Given the description of an element on the screen output the (x, y) to click on. 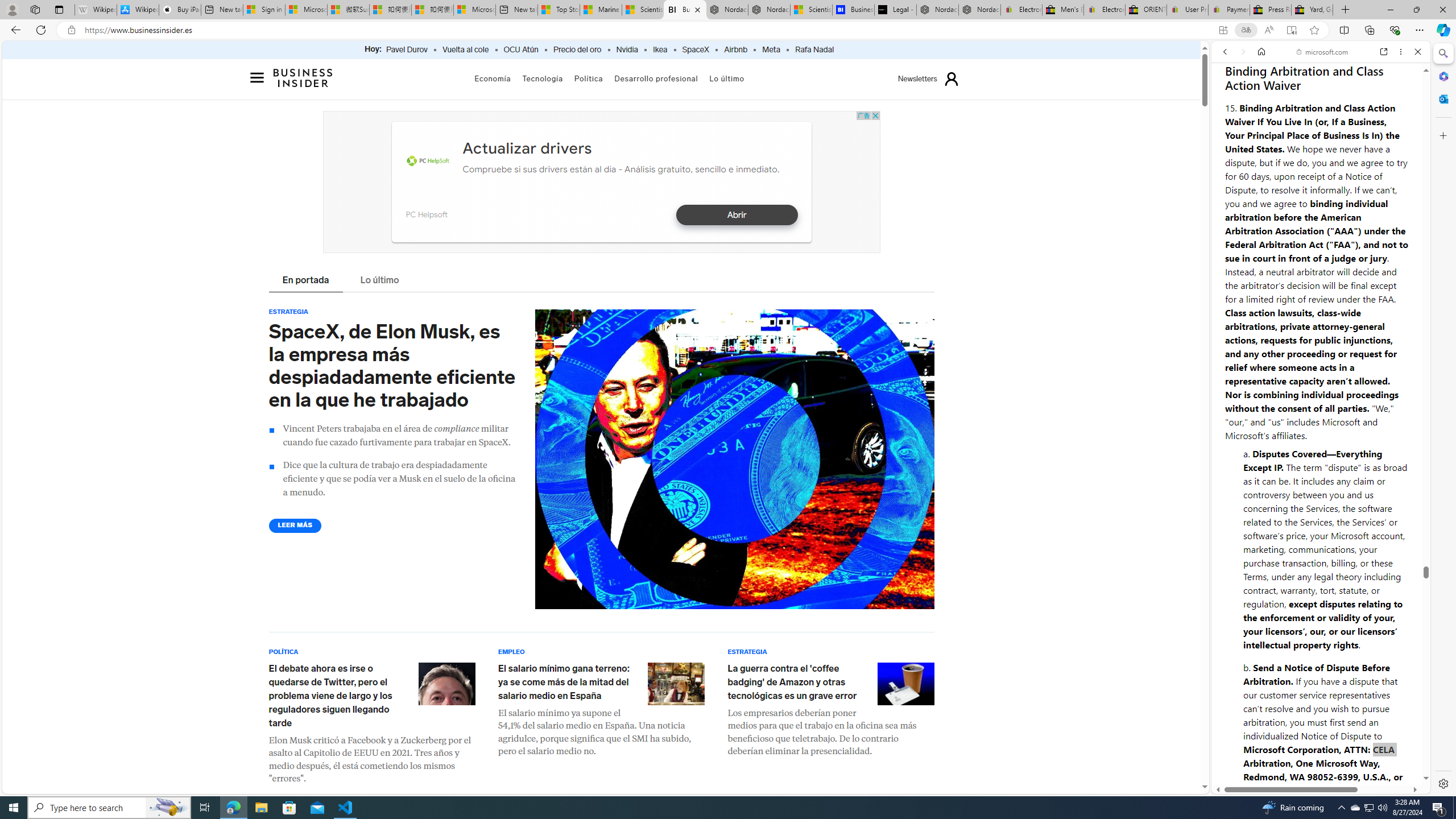
Legal (1292, 757)
Privacy (1252, 751)
SpaceX (695, 49)
Ikea (660, 49)
Airbnb (734, 49)
